Given the description of an element on the screen output the (x, y) to click on. 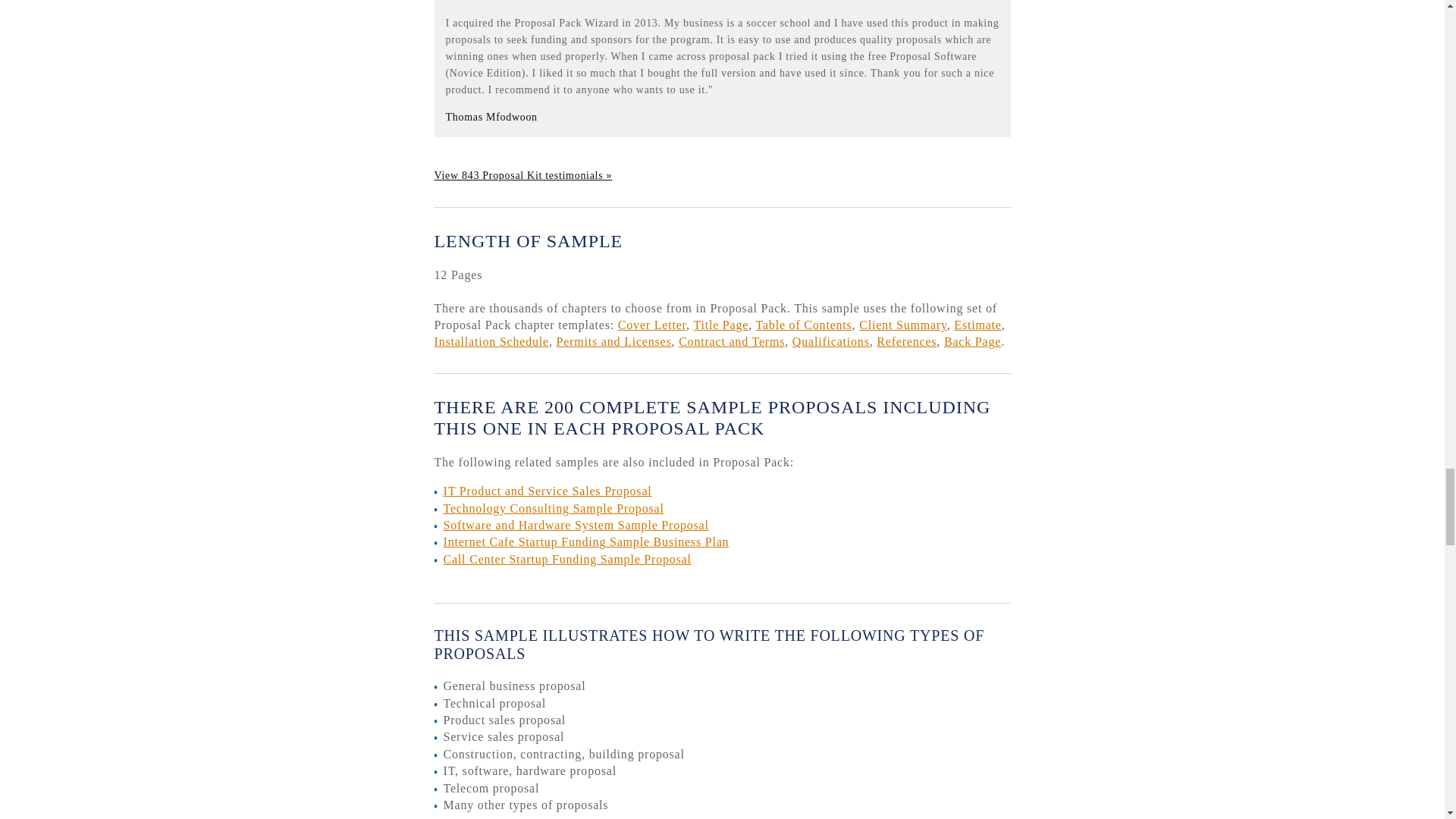
IT Product and Service Sales Proposal (546, 490)
References (906, 341)
Title Page (720, 324)
Permits and Licenses (613, 341)
Technology Consulting Sample Proposal (552, 508)
Client Summary (903, 324)
Table of Contents (803, 324)
Contract and Terms (731, 341)
Back Page (972, 341)
Qualifications (830, 341)
Estimate (977, 324)
Cover Letter (651, 324)
Installation Schedule (490, 341)
